Given the description of an element on the screen output the (x, y) to click on. 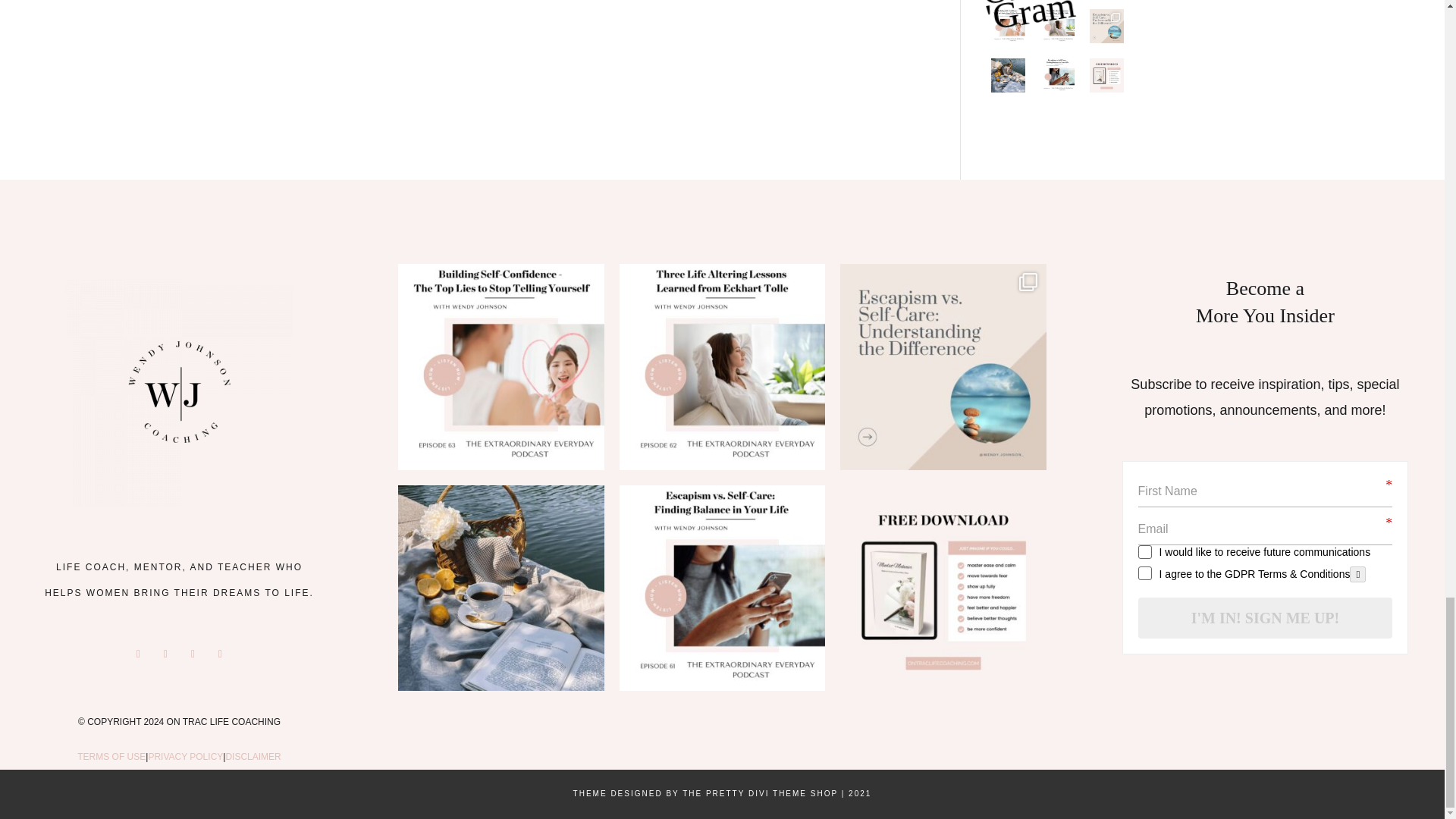
Follow on Facebook (138, 654)
DISCLAIMER (253, 756)
Follow on Youtube (220, 654)
Follow on LinkedIn (193, 654)
TERMS OF USE (111, 756)
Follow on Instagram (165, 654)
PRIVACY POLICY (185, 756)
